Given the description of an element on the screen output the (x, y) to click on. 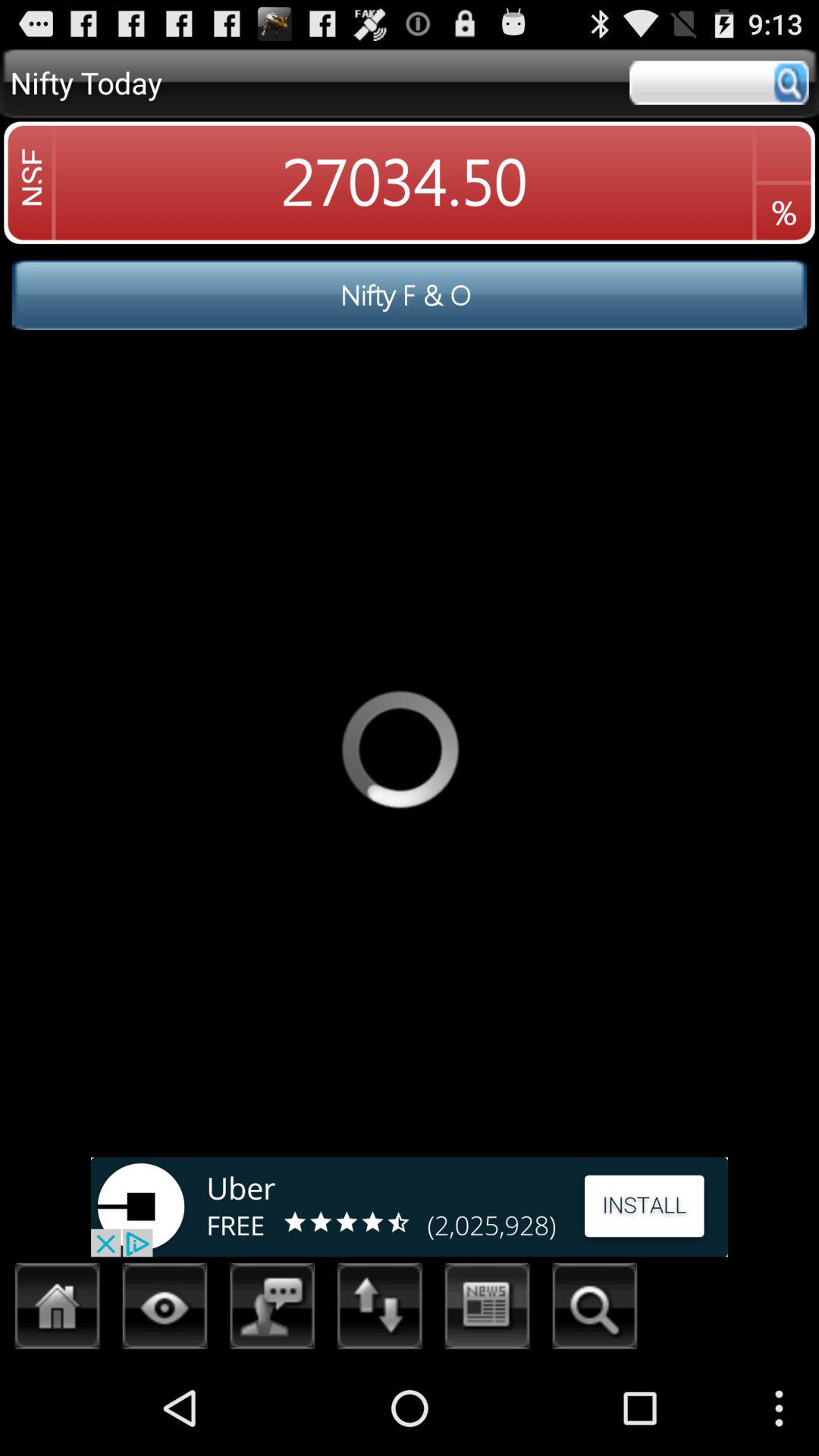
go to home page (57, 1310)
